Given the description of an element on the screen output the (x, y) to click on. 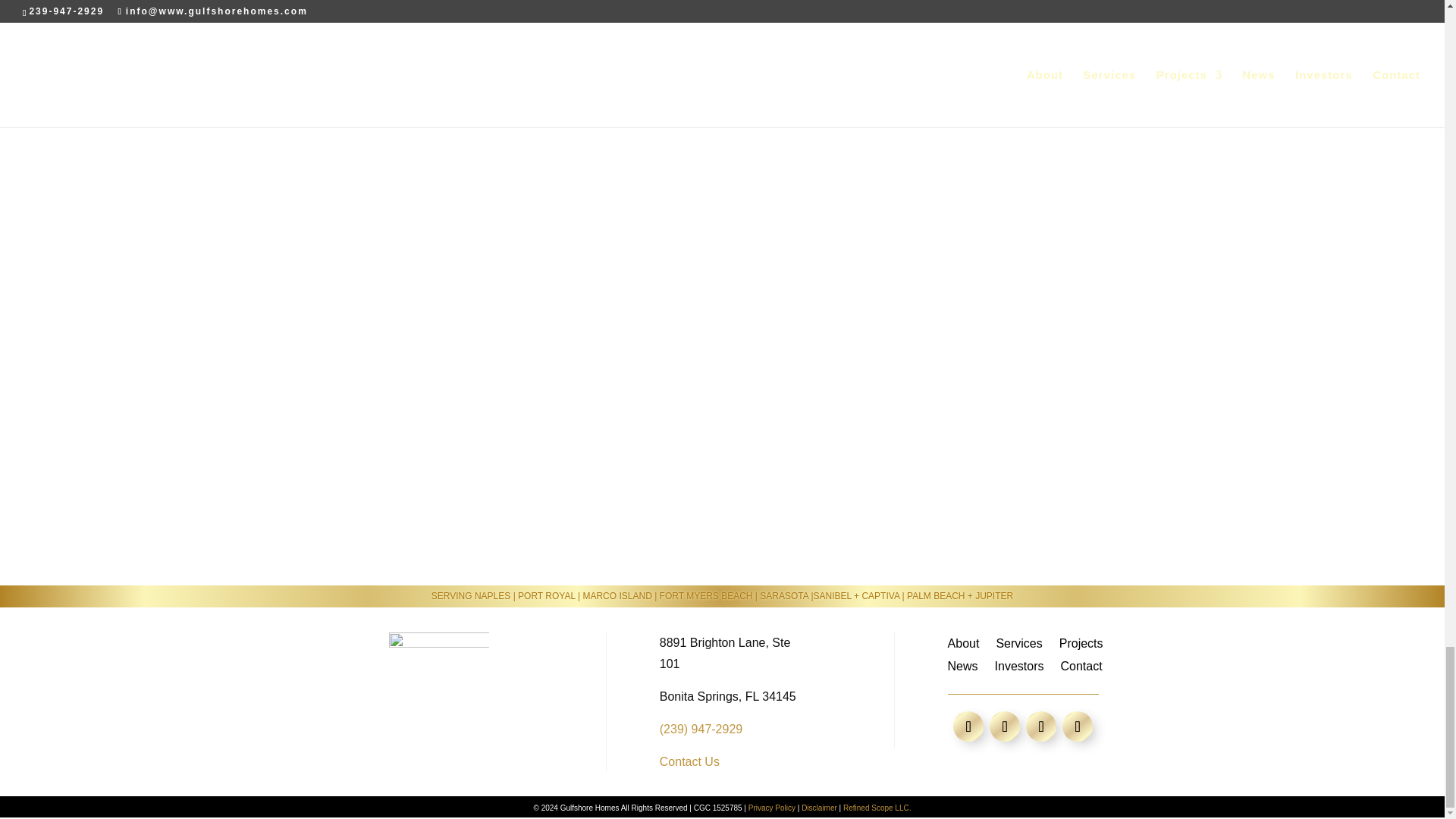
Disclaimer (819, 807)
Investors (1018, 669)
Contact (1080, 669)
Follow on Facebook (1005, 726)
Follow on Houzz (1041, 726)
Contact Us (689, 761)
Services (1018, 646)
Privacy Policy (771, 807)
About (963, 646)
Follow on Youtube (1077, 726)
